Given the description of an element on the screen output the (x, y) to click on. 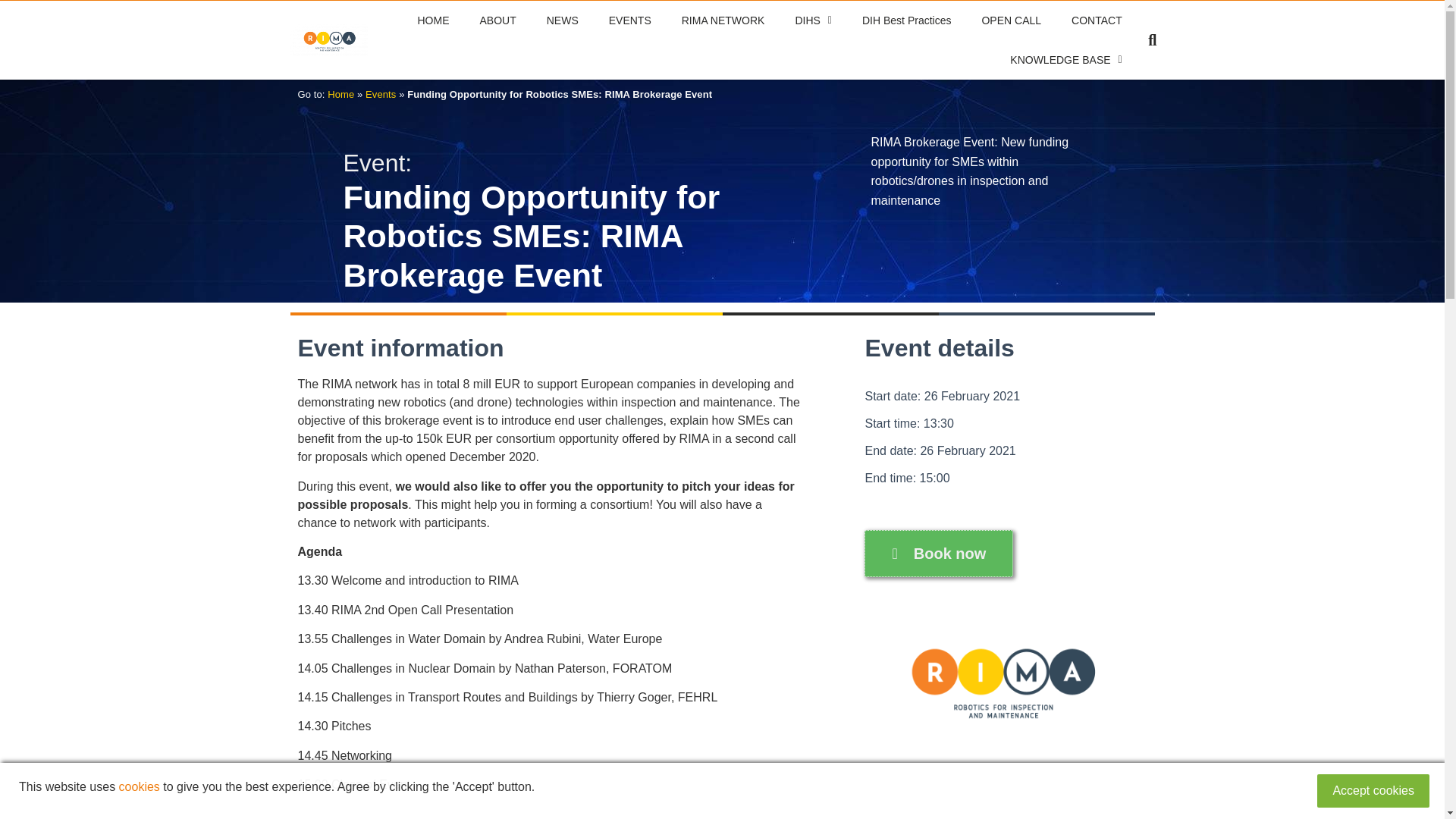
HOME (432, 20)
DIHS (812, 20)
KNOWLEDGE BASE (1065, 59)
CONTACT (1097, 20)
DIH Best Practices (906, 20)
RIMA NETWORK (723, 20)
EVENTS (630, 20)
ABOUT (497, 20)
OPEN CALL (1011, 20)
NEWS (562, 20)
